Given the description of an element on the screen output the (x, y) to click on. 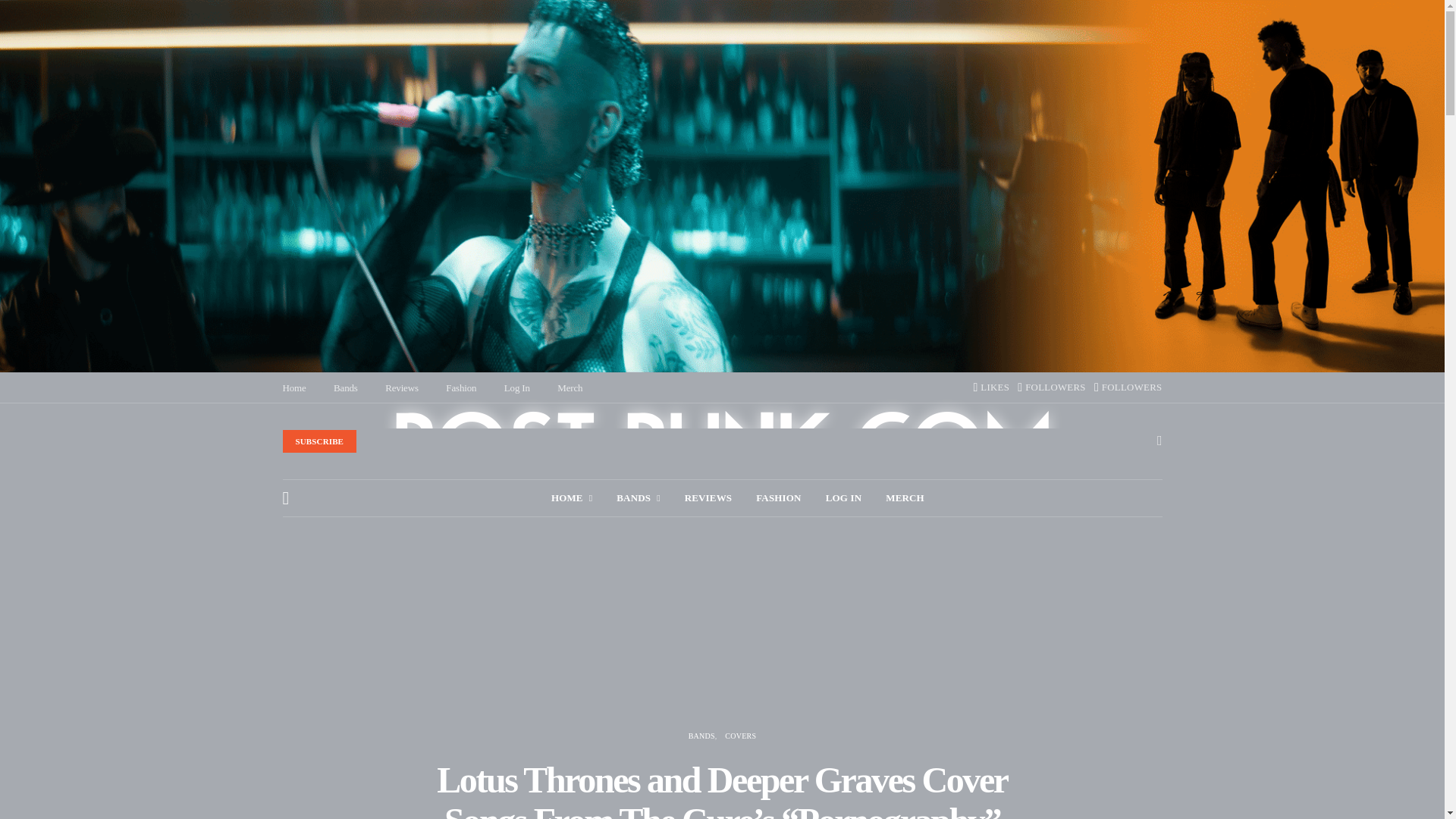
Merch (569, 387)
SUBSCRIBE (319, 441)
Fashion (460, 387)
Log In (516, 387)
Reviews (402, 387)
FOLLOWERS (1127, 387)
Bands (637, 497)
Bands (345, 387)
HOME (571, 497)
BANDS (637, 497)
